Given the description of an element on the screen output the (x, y) to click on. 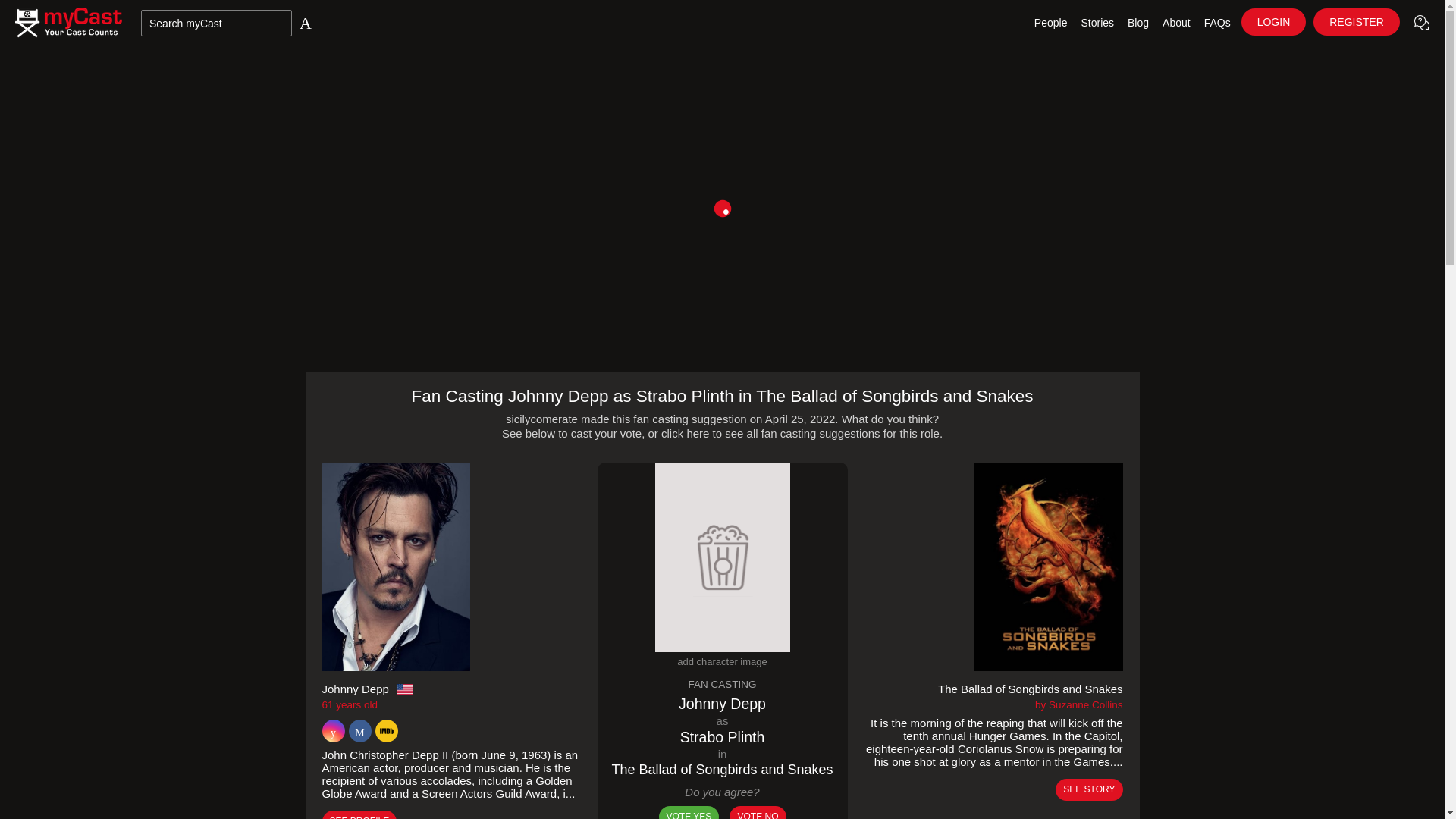
LOGIN (1273, 22)
FAQs (1216, 22)
sicilycomerate User Profile (541, 418)
About (1176, 22)
Stories (1097, 22)
People (1050, 22)
